Given the description of an element on the screen output the (x, y) to click on. 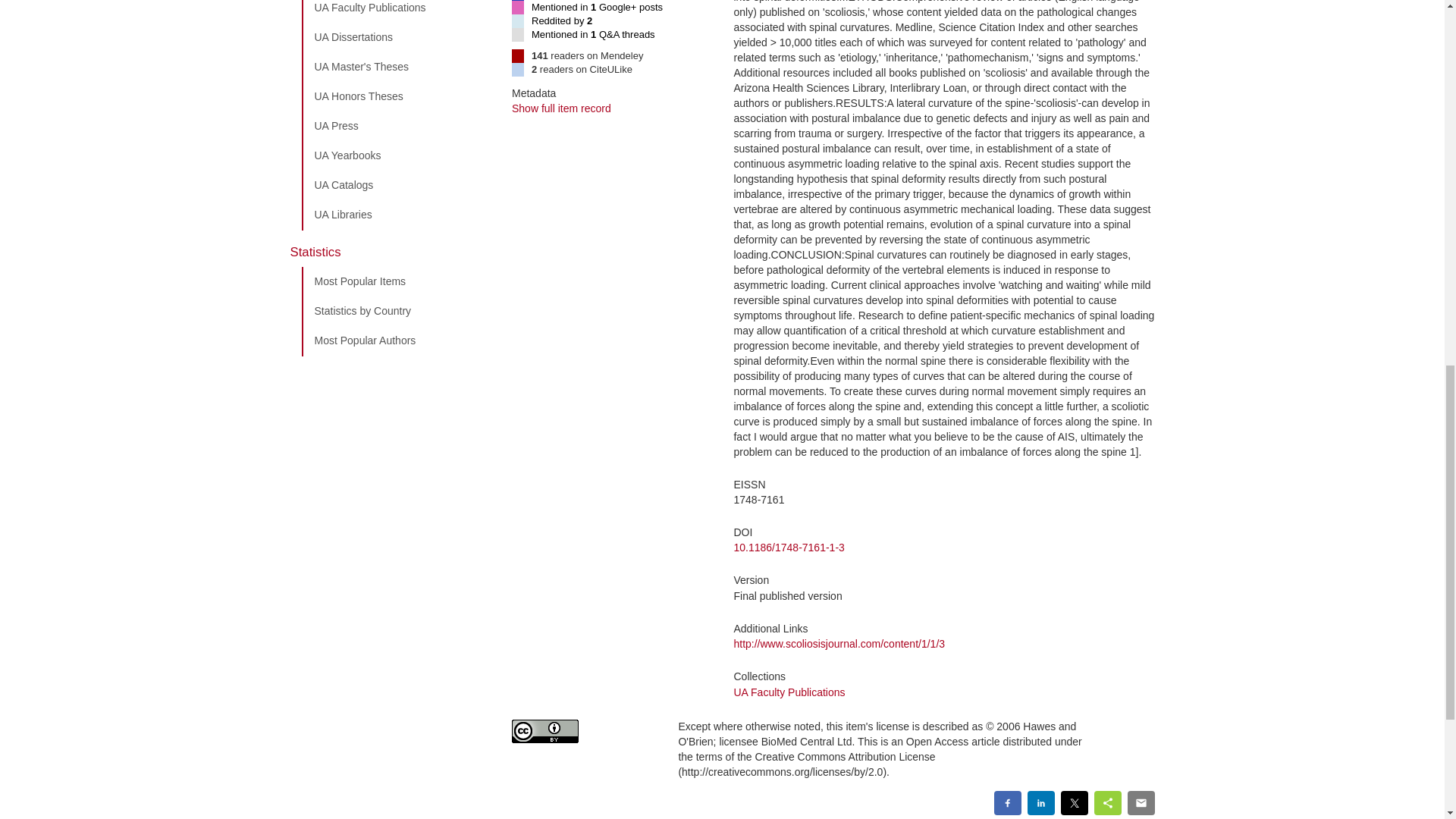
UA Yearbooks (395, 155)
UA Faculty Publications (395, 11)
UA Dissertations (395, 37)
UA Honors Theses (395, 96)
UA Catalogs (395, 185)
UA Master's Theses (395, 67)
UA Press (395, 126)
